Given the description of an element on the screen output the (x, y) to click on. 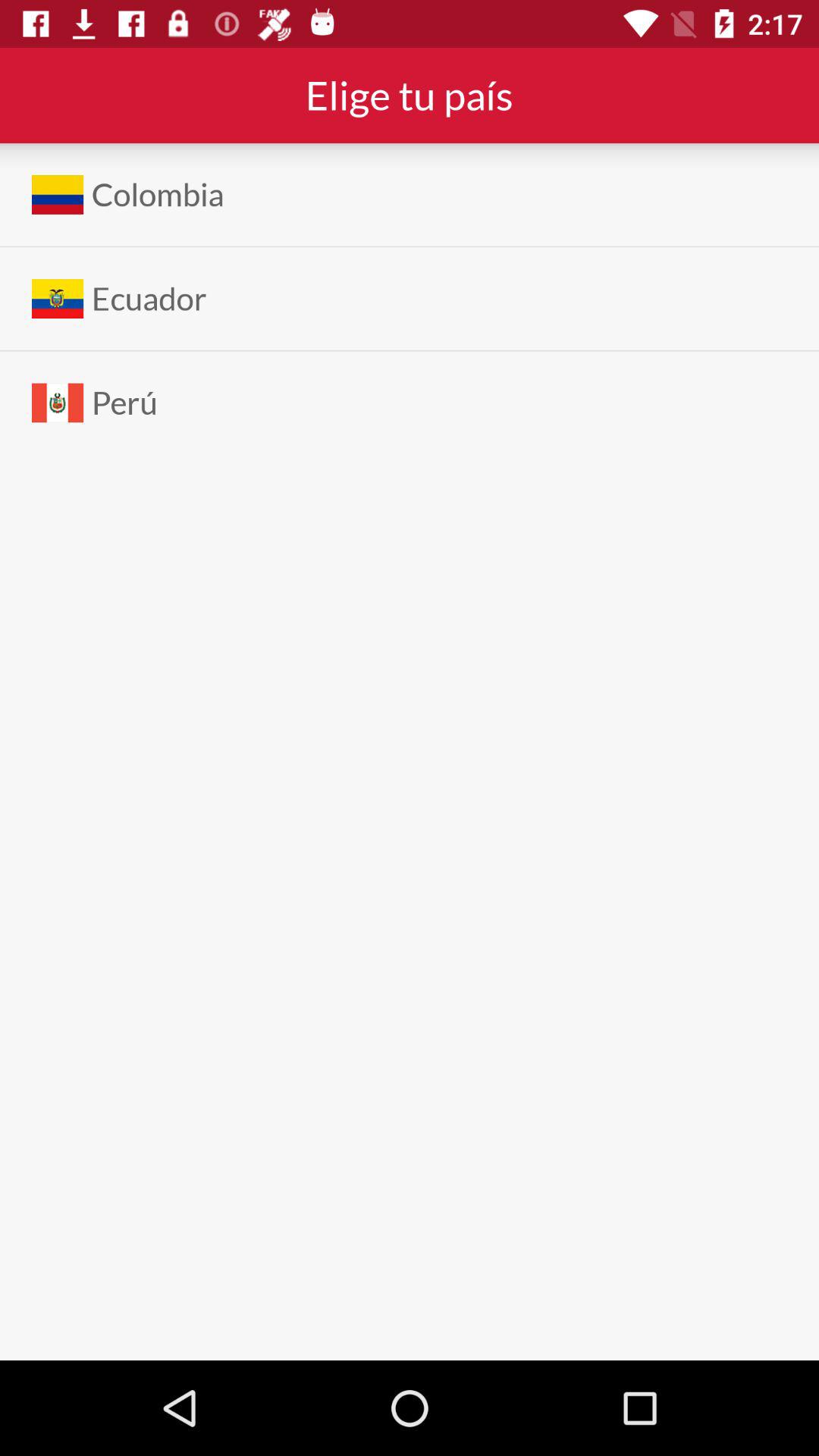
turn on ecuador item (149, 298)
